Given the description of an element on the screen output the (x, y) to click on. 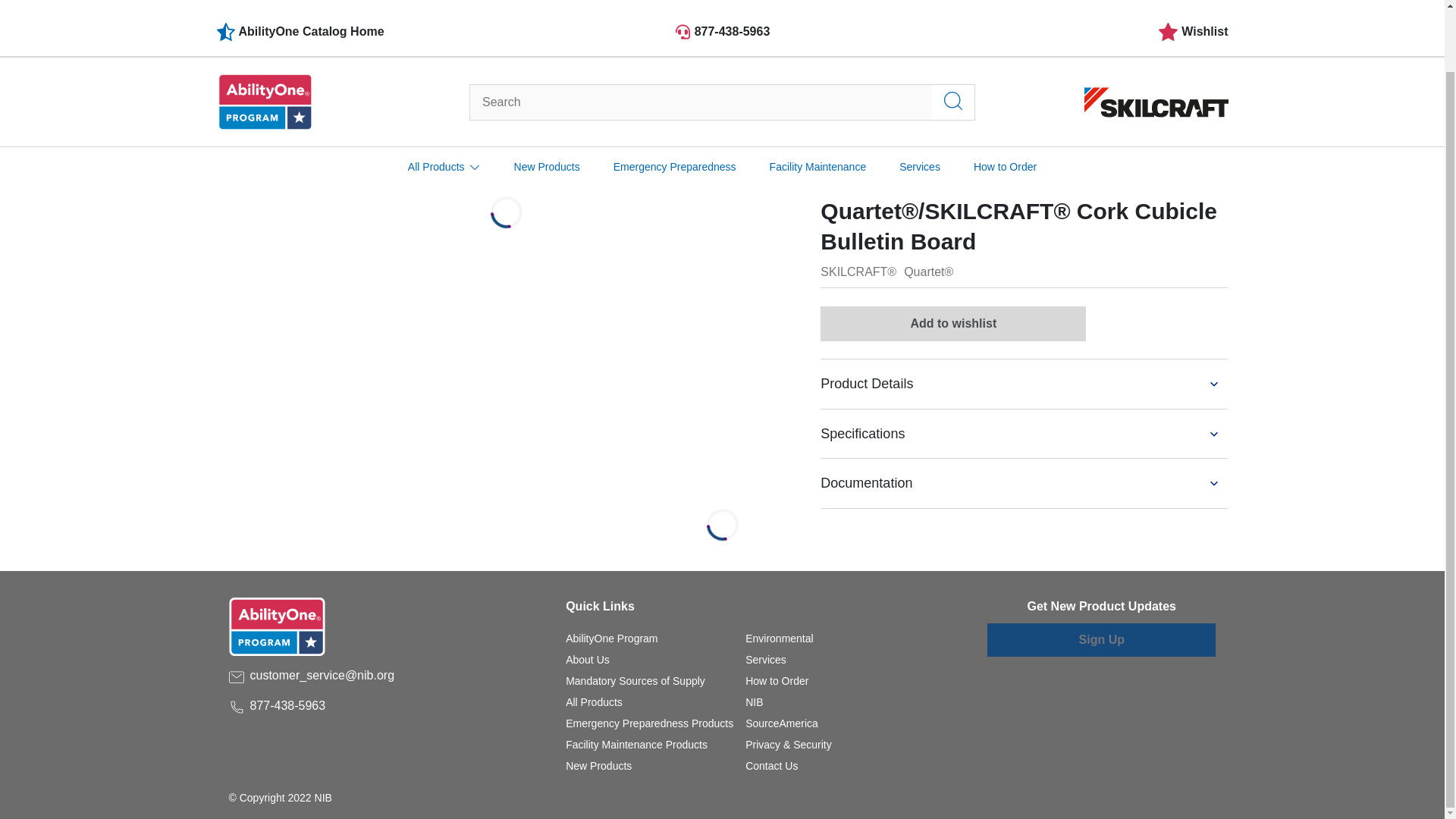
All Products (443, 99)
New Products (546, 99)
Contact Us (771, 766)
How to Order (776, 680)
All Products (594, 702)
Mandatory Sources of Supply (635, 680)
Facility Maintenance Products (636, 744)
How to Order (776, 680)
Services (765, 659)
Services (919, 99)
AbilityOne Program (612, 638)
New Products (598, 766)
Facility Maintenance (818, 99)
AbilityOne Program (612, 638)
Services (765, 659)
